Given the description of an element on the screen output the (x, y) to click on. 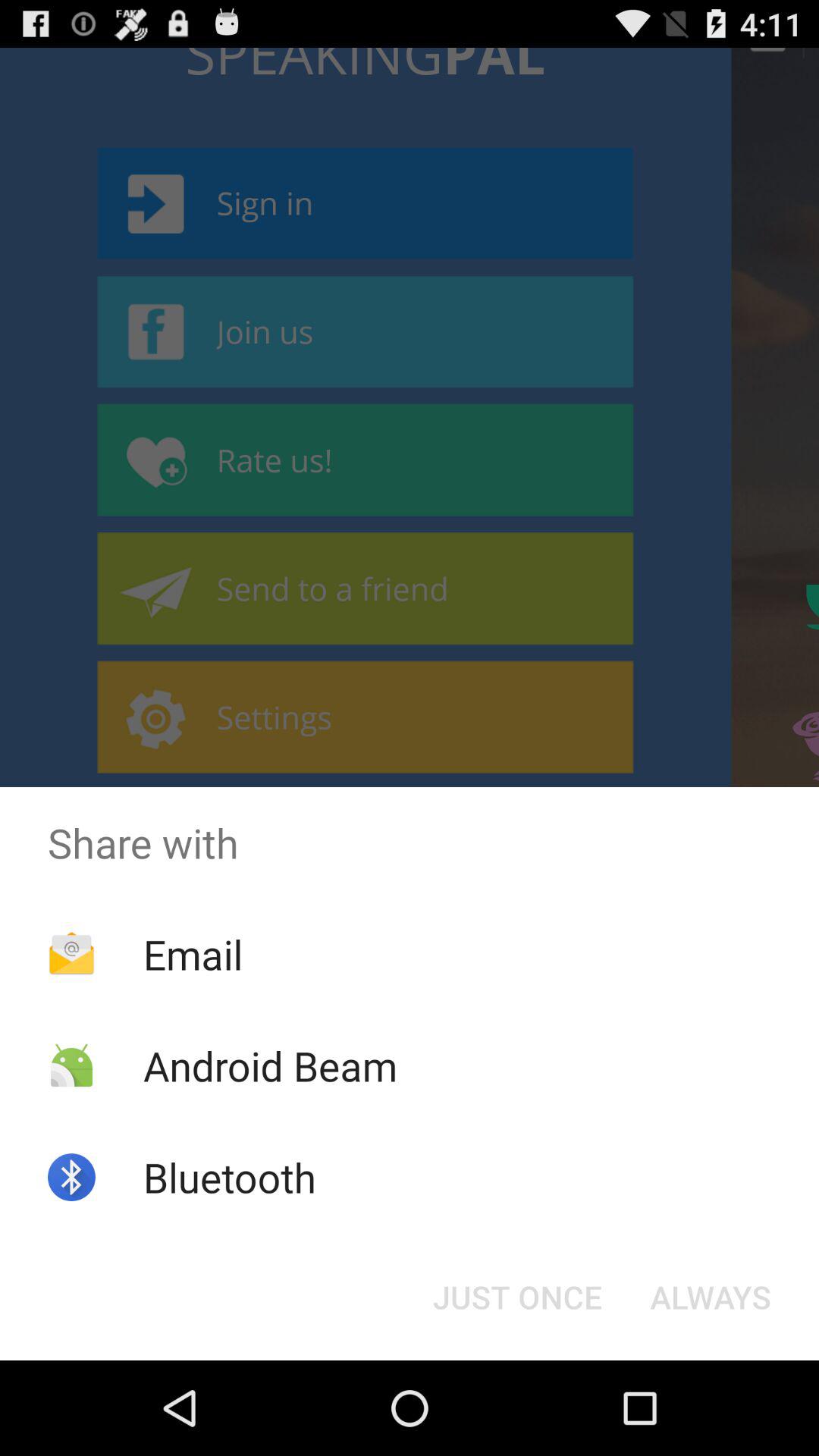
select item below the email item (270, 1065)
